Given the description of an element on the screen output the (x, y) to click on. 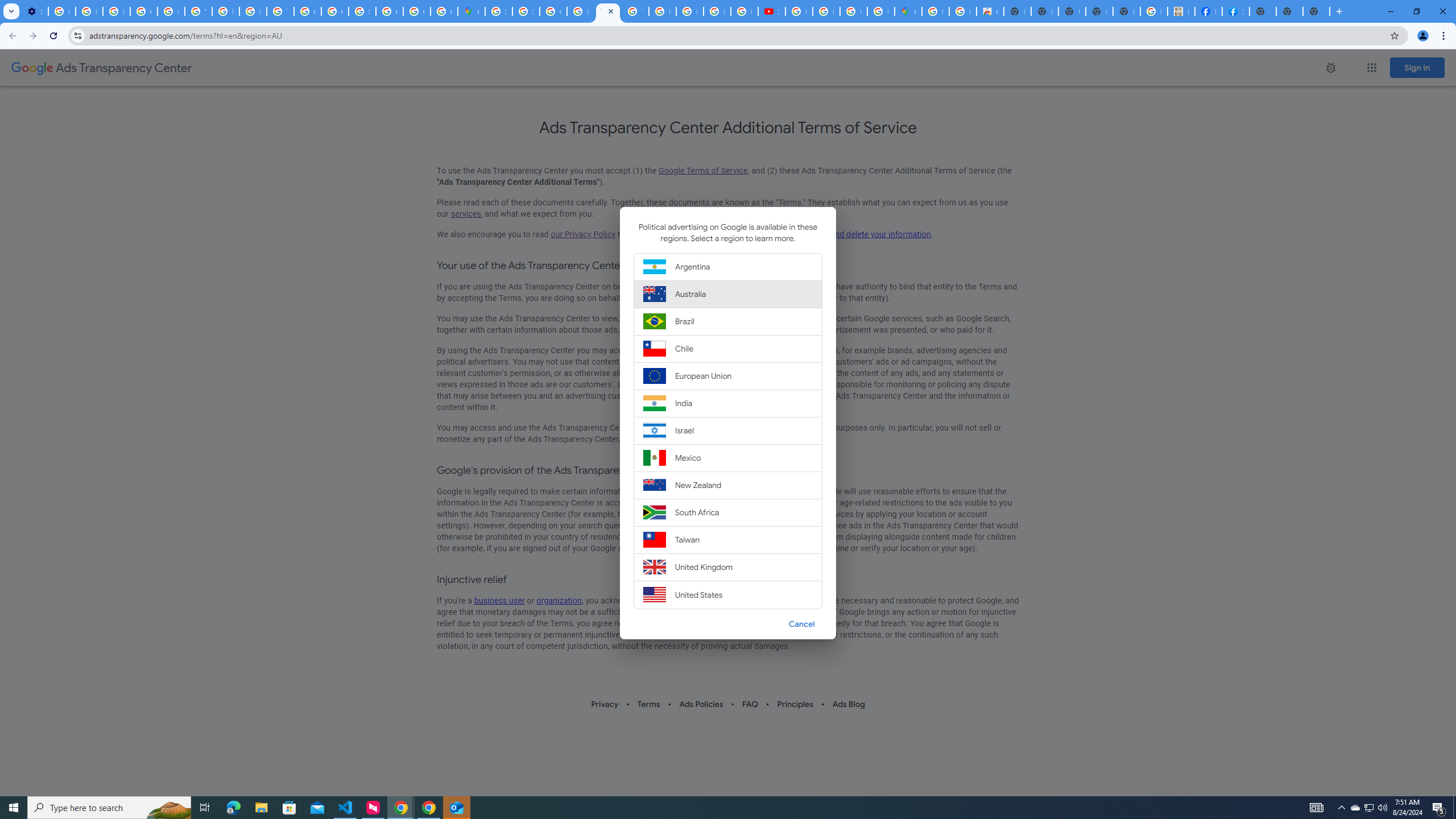
business user (499, 601)
New Zealand (727, 485)
Go to Ads Transparency Center home page. (101, 68)
Mexico (727, 457)
Privacy Help Center - Policies Help (716, 11)
Australia (727, 293)
Sign in - Google Accounts (362, 11)
